Given the description of an element on the screen output the (x, y) to click on. 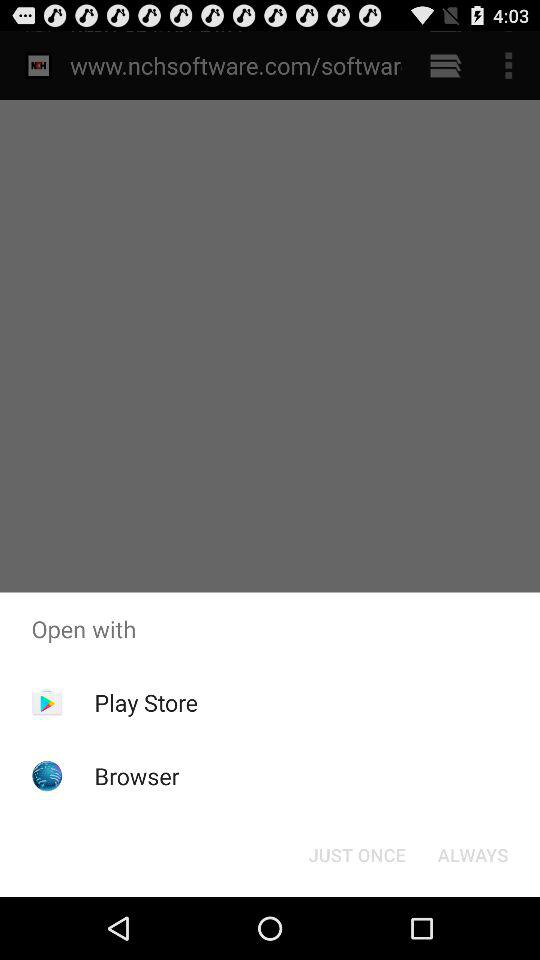
flip until the browser item (136, 775)
